Given the description of an element on the screen output the (x, y) to click on. 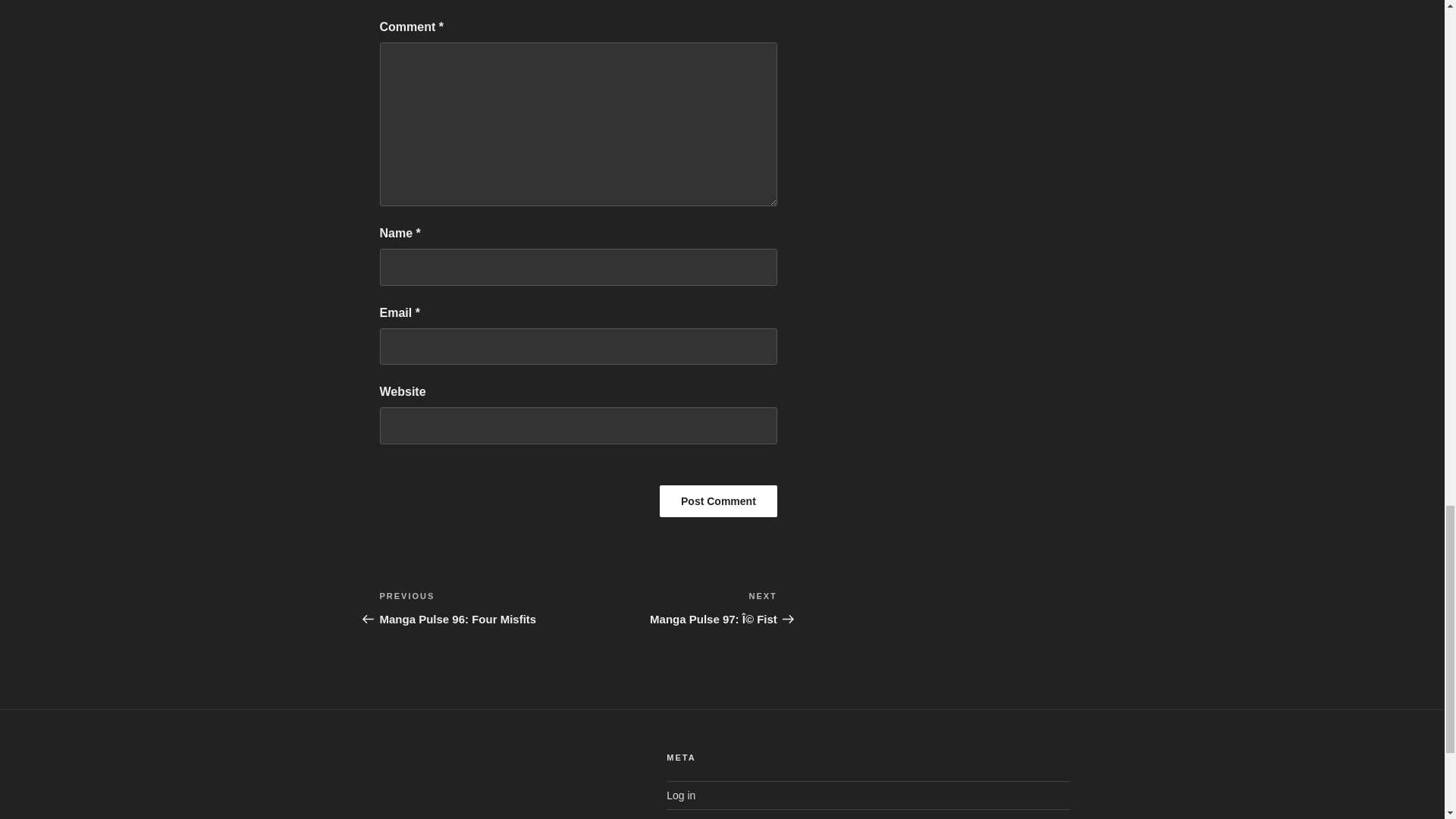
Post Comment (718, 500)
Post Comment (478, 607)
